Given the description of an element on the screen output the (x, y) to click on. 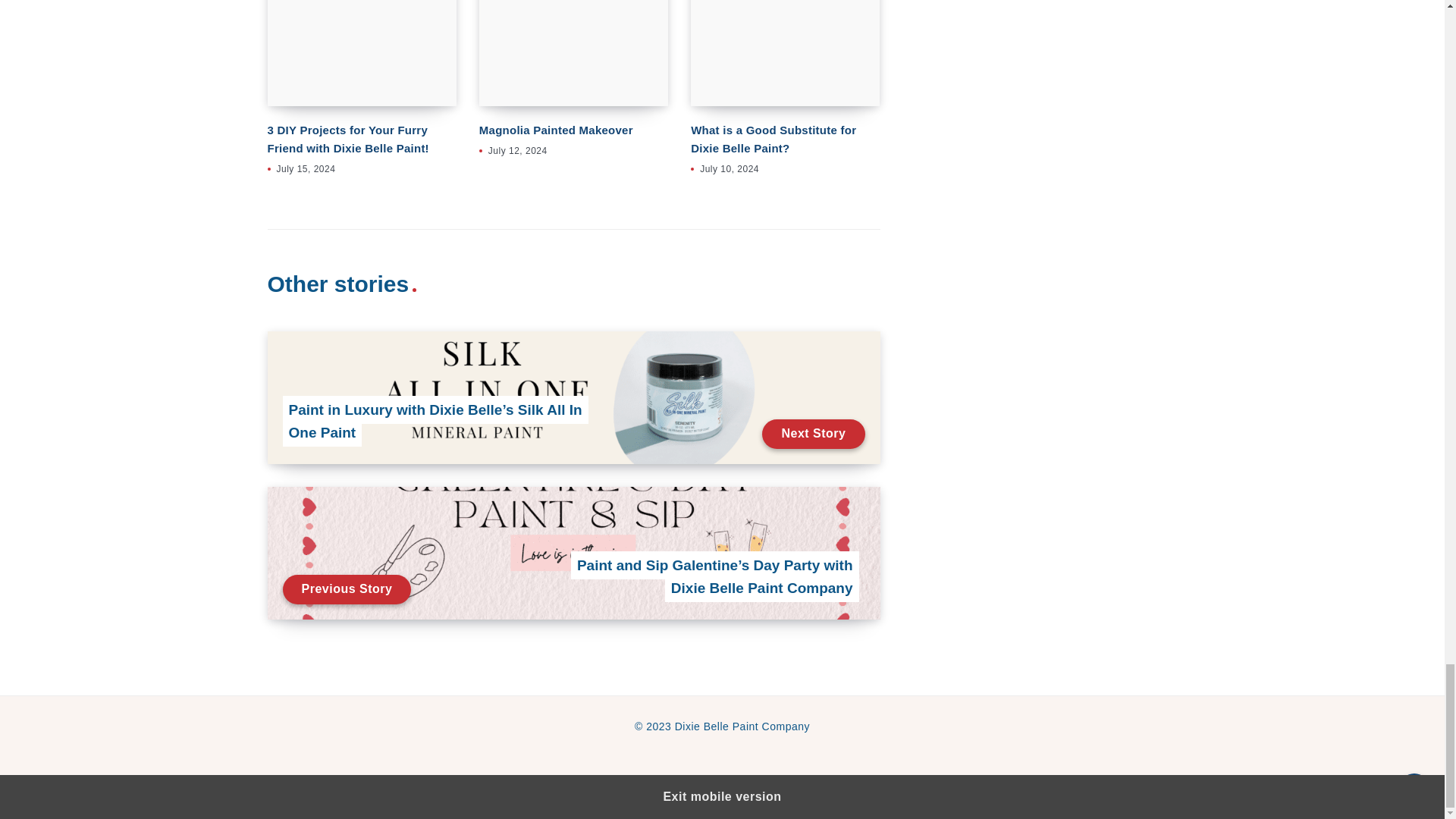
What is a Good Substitute for Dixie Belle Paint? (784, 53)
Magnolia Painted Makeover (573, 53)
3 DIY Projects for Your Furry Friend with Dixie Belle Paint! (360, 53)
